Given the description of an element on the screen output the (x, y) to click on. 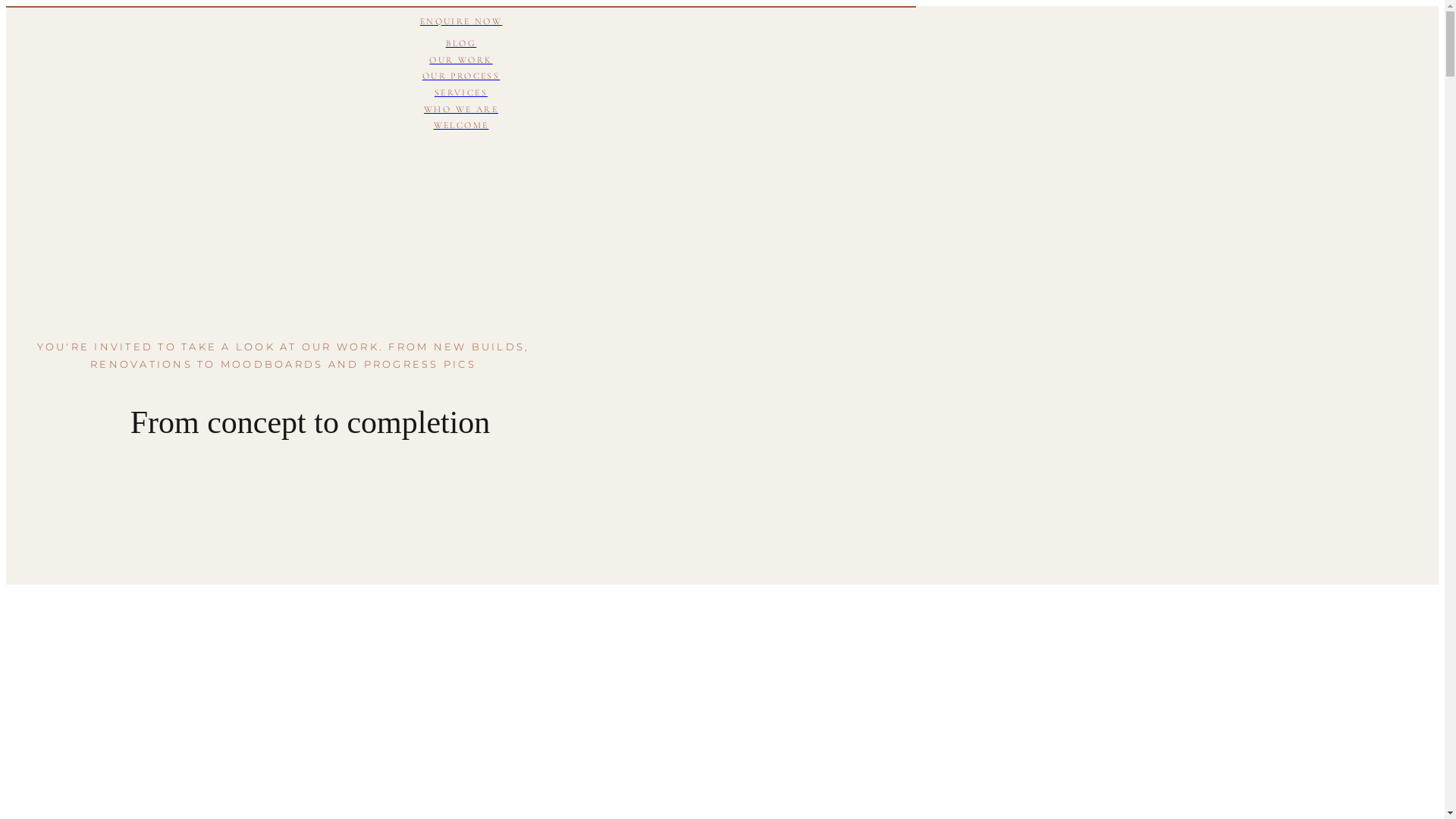
WELCOME Element type: text (461, 125)
BLOG Element type: text (461, 43)
WHO WE ARE Element type: text (461, 109)
OUR PROCESS Element type: text (461, 76)
ENQUIRE NOW Element type: text (461, 21)
SERVICES Element type: text (461, 92)
OUR WORK Element type: text (461, 60)
